Given the description of an element on the screen output the (x, y) to click on. 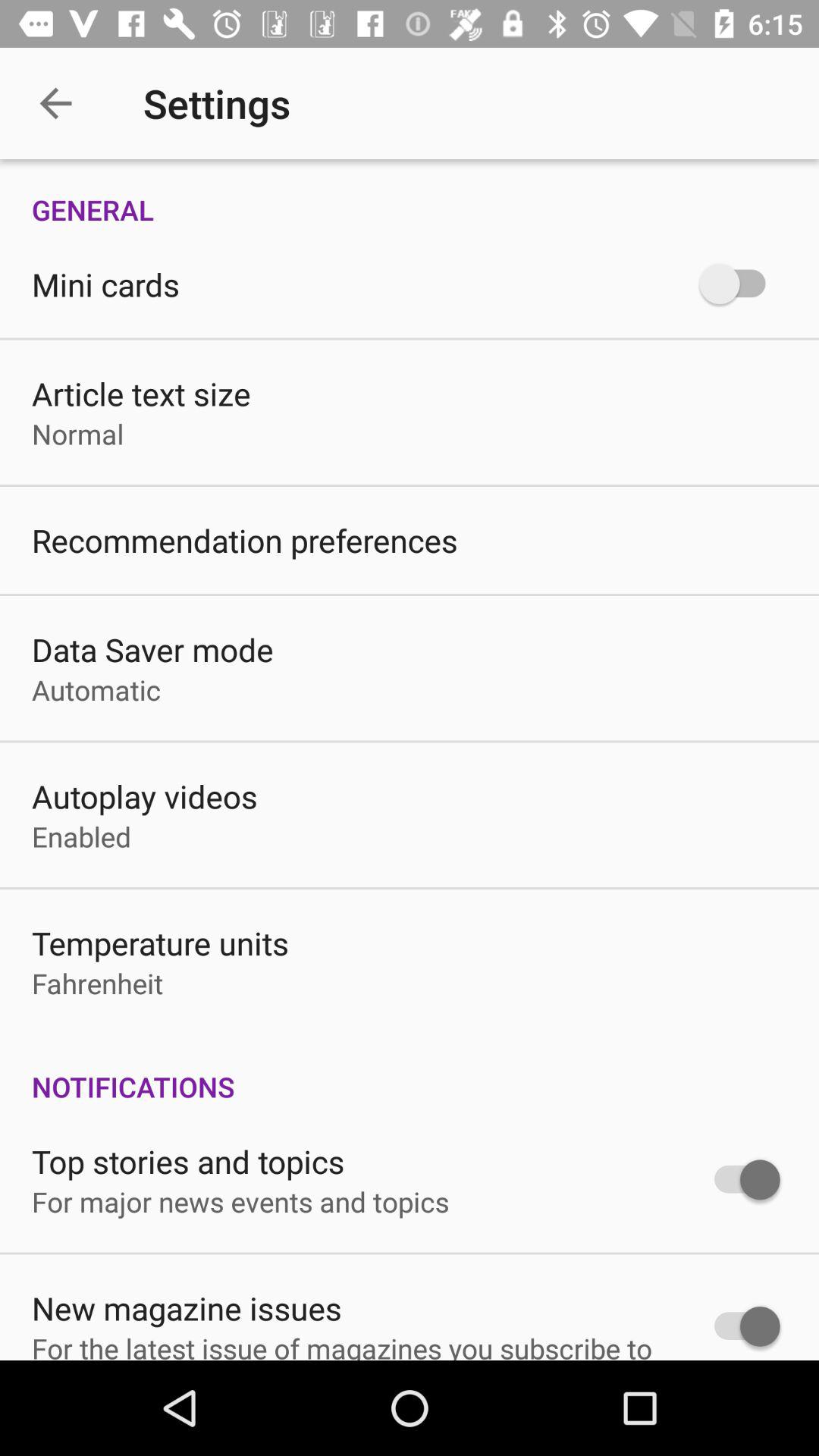
launch general icon (409, 193)
